Given the description of an element on the screen output the (x, y) to click on. 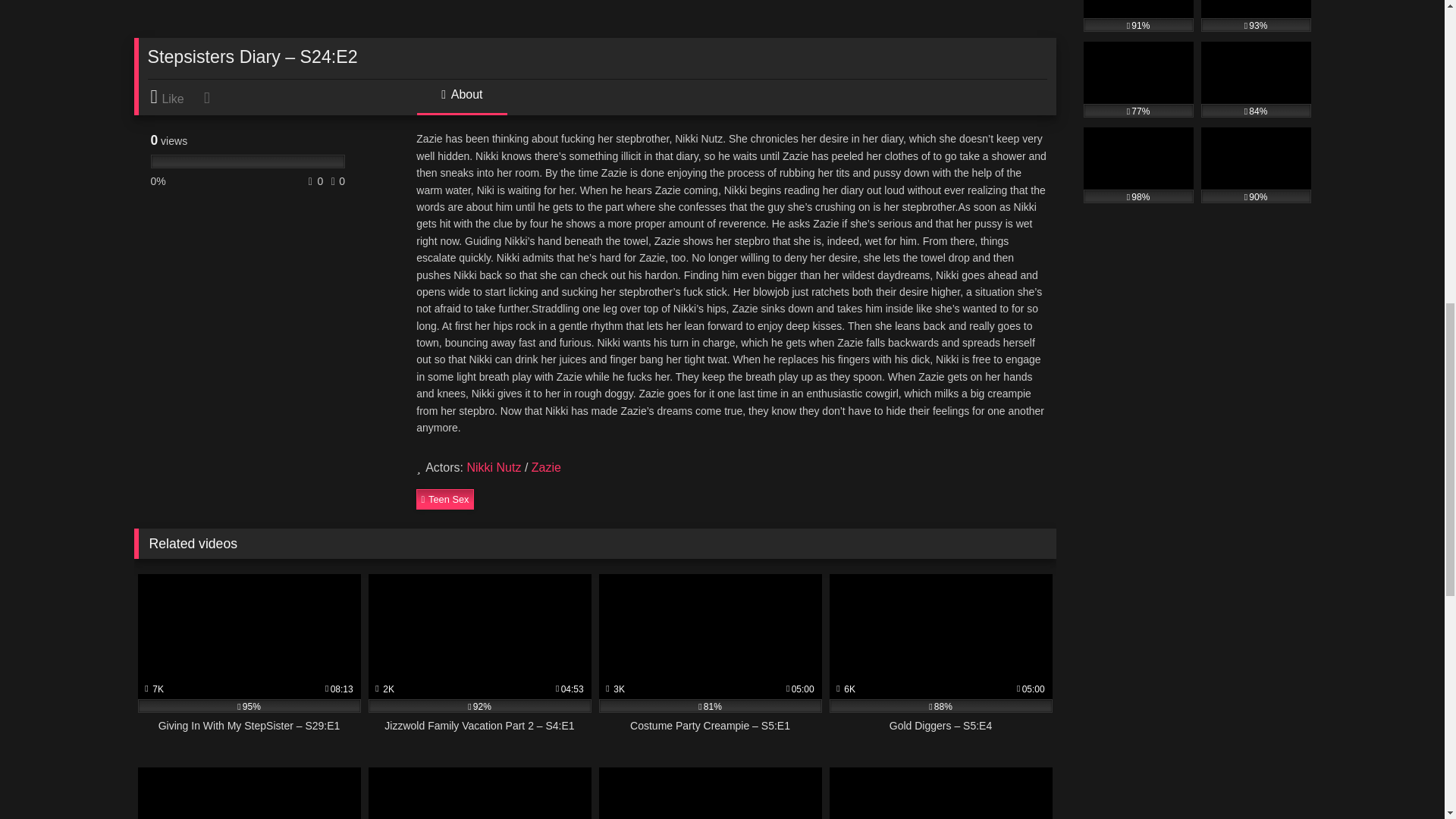
Nikki Nutz (493, 467)
Nikki Nutz (493, 467)
Zazie (545, 467)
Teen Sex (444, 498)
About (461, 100)
I like this (174, 97)
Like (174, 97)
Zazie (545, 467)
Teen Sex (444, 498)
